Given the description of an element on the screen output the (x, y) to click on. 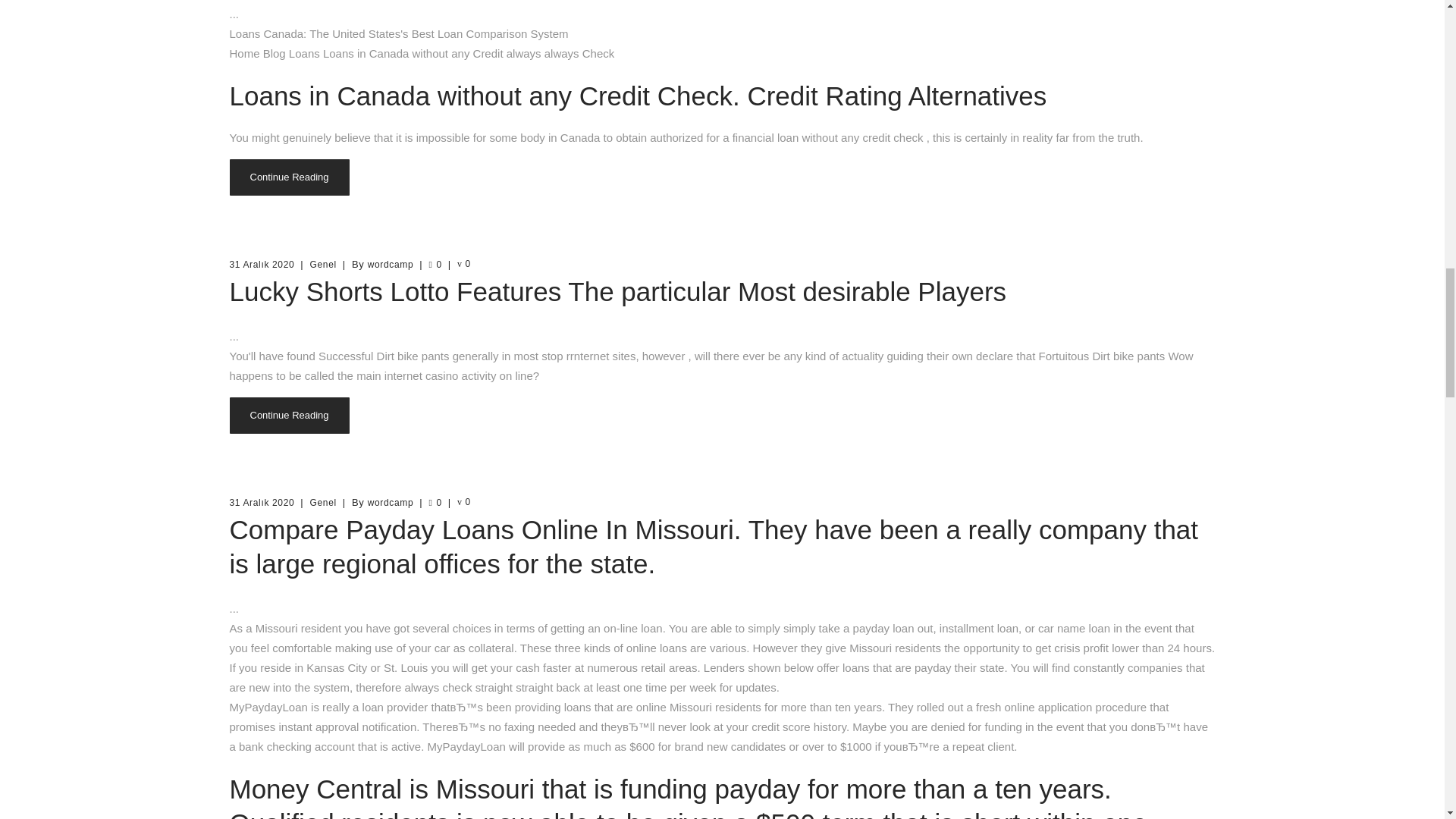
Like this (434, 502)
Like this (434, 264)
